Given the description of an element on the screen output the (x, y) to click on. 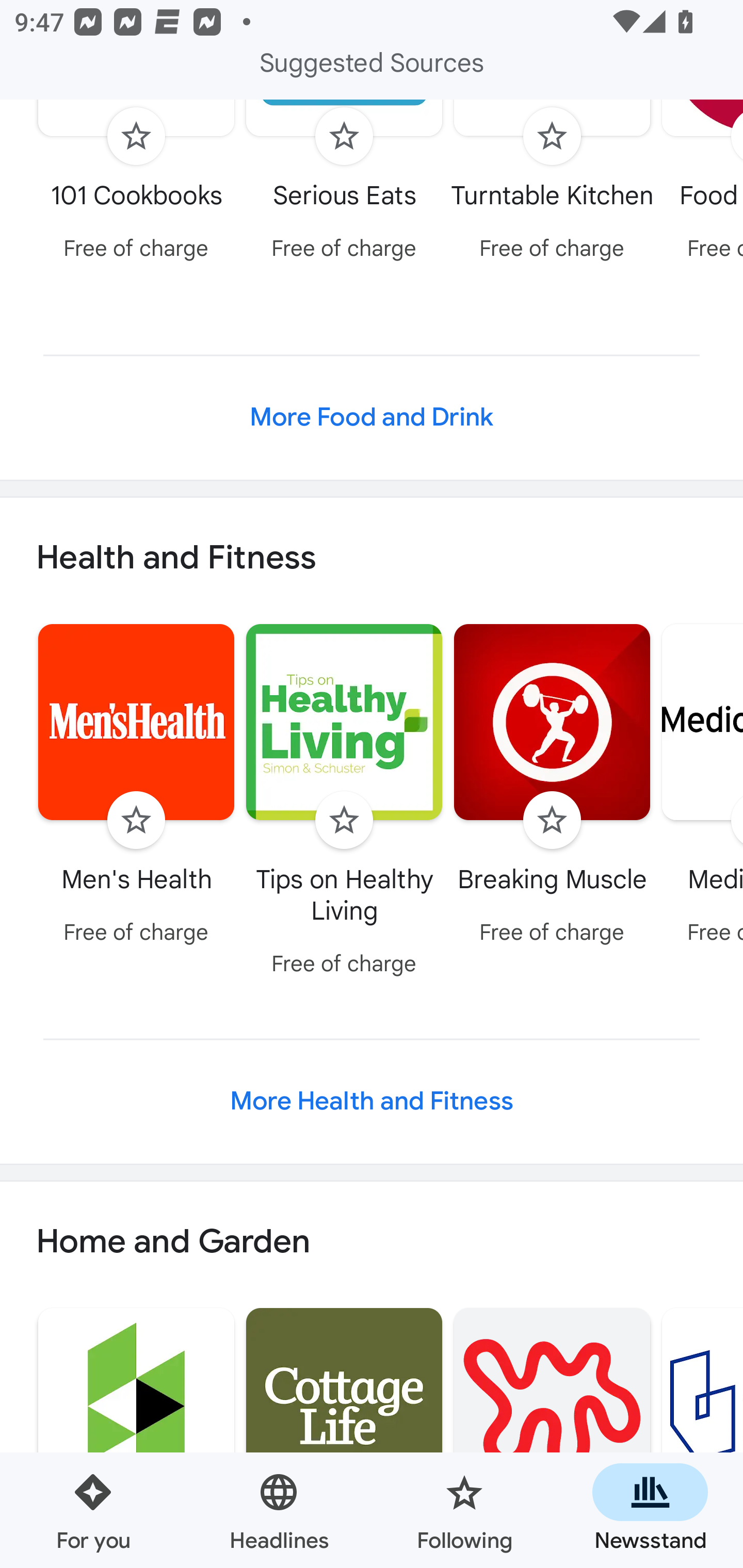
Follow 101 Cookbooks Free of charge (136, 184)
Follow Serious Eats Free of charge (344, 184)
Follow Turntable Kitchen Free of charge (552, 184)
Follow (135, 135)
Follow (343, 135)
Follow (552, 135)
More Food and Drink (371, 417)
Health and Fitness (371, 557)
Follow Men's Health Free of charge (136, 786)
Follow Tips on Healthy Living Free of charge (344, 802)
Follow Breaking Muscle Free of charge (552, 786)
Follow (135, 819)
Follow (343, 819)
Follow (552, 819)
More Health and Fitness (371, 1101)
Home and Garden (371, 1242)
Follow Houzz (136, 1435)
Follow Cottage Life (344, 1435)
Follow Apartment Therapy (552, 1435)
For you (92, 1509)
Headlines (278, 1509)
Following (464, 1509)
Newsstand (650, 1509)
